Given the description of an element on the screen output the (x, y) to click on. 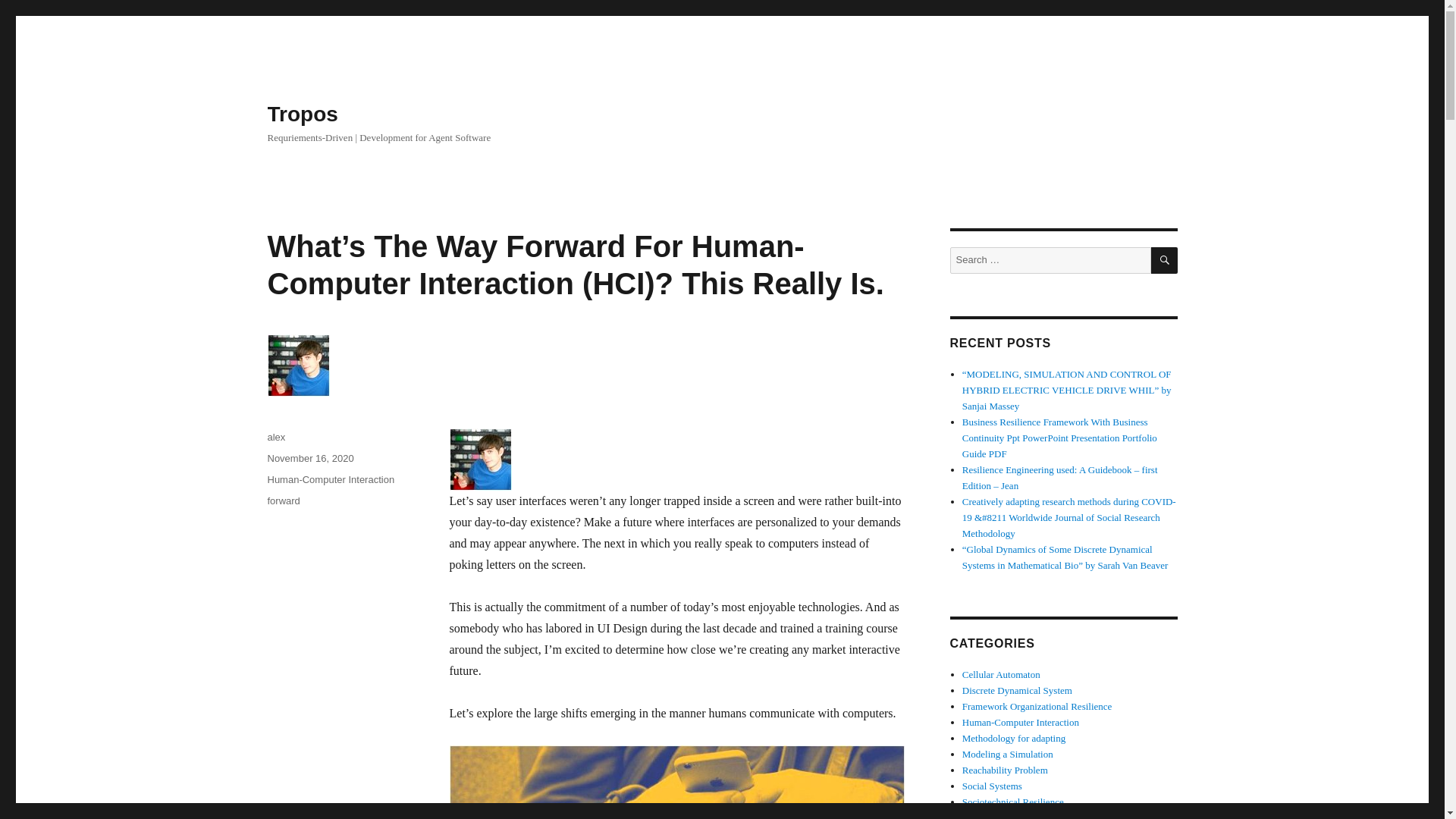
Tropos (301, 114)
Human-Computer Interaction (330, 479)
alex (275, 437)
forward (282, 500)
November 16, 2020 (309, 458)
